Given the description of an element on the screen output the (x, y) to click on. 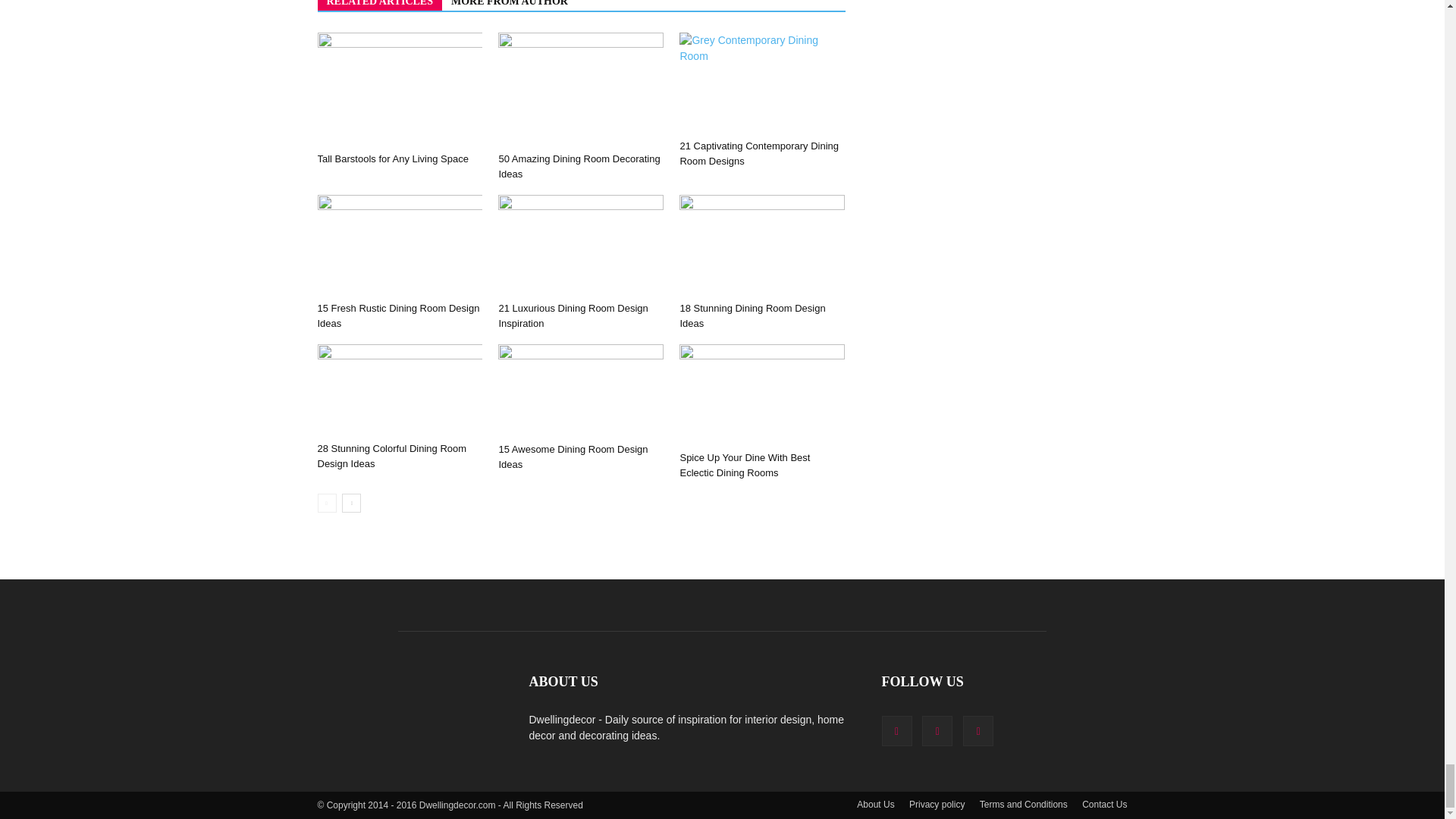
RELATED ARTICLES (379, 5)
Tall Barstools for Any Living Space (399, 89)
Tall Barstools for Any Living Space (392, 158)
MORE FROM AUTHOR (509, 5)
50 Amazing Dining Room Decorating Ideas (578, 166)
50 Amazing Dining Room Decorating Ideas (580, 89)
